Given the description of an element on the screen output the (x, y) to click on. 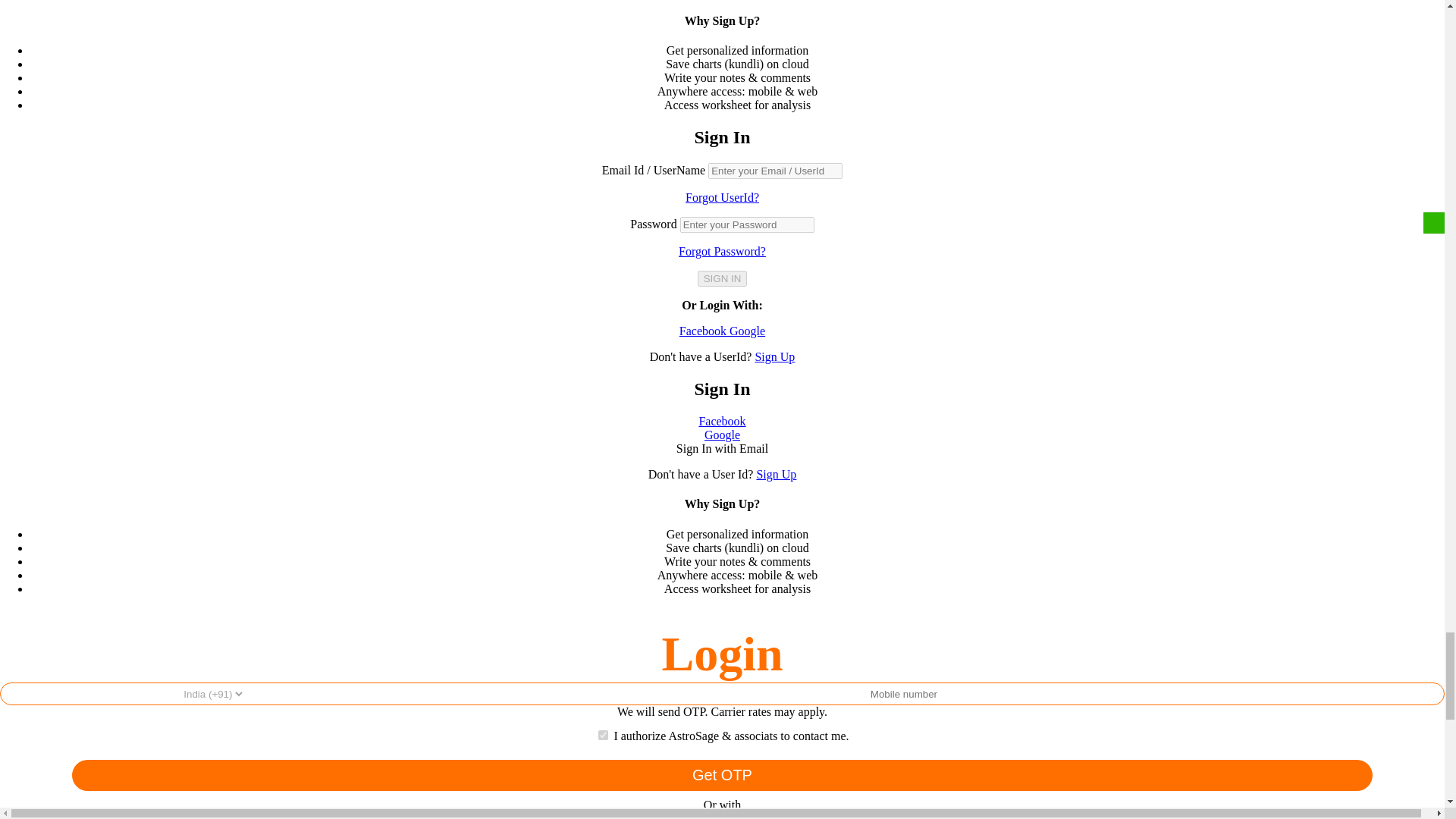
on (603, 735)
